Given the description of an element on the screen output the (x, y) to click on. 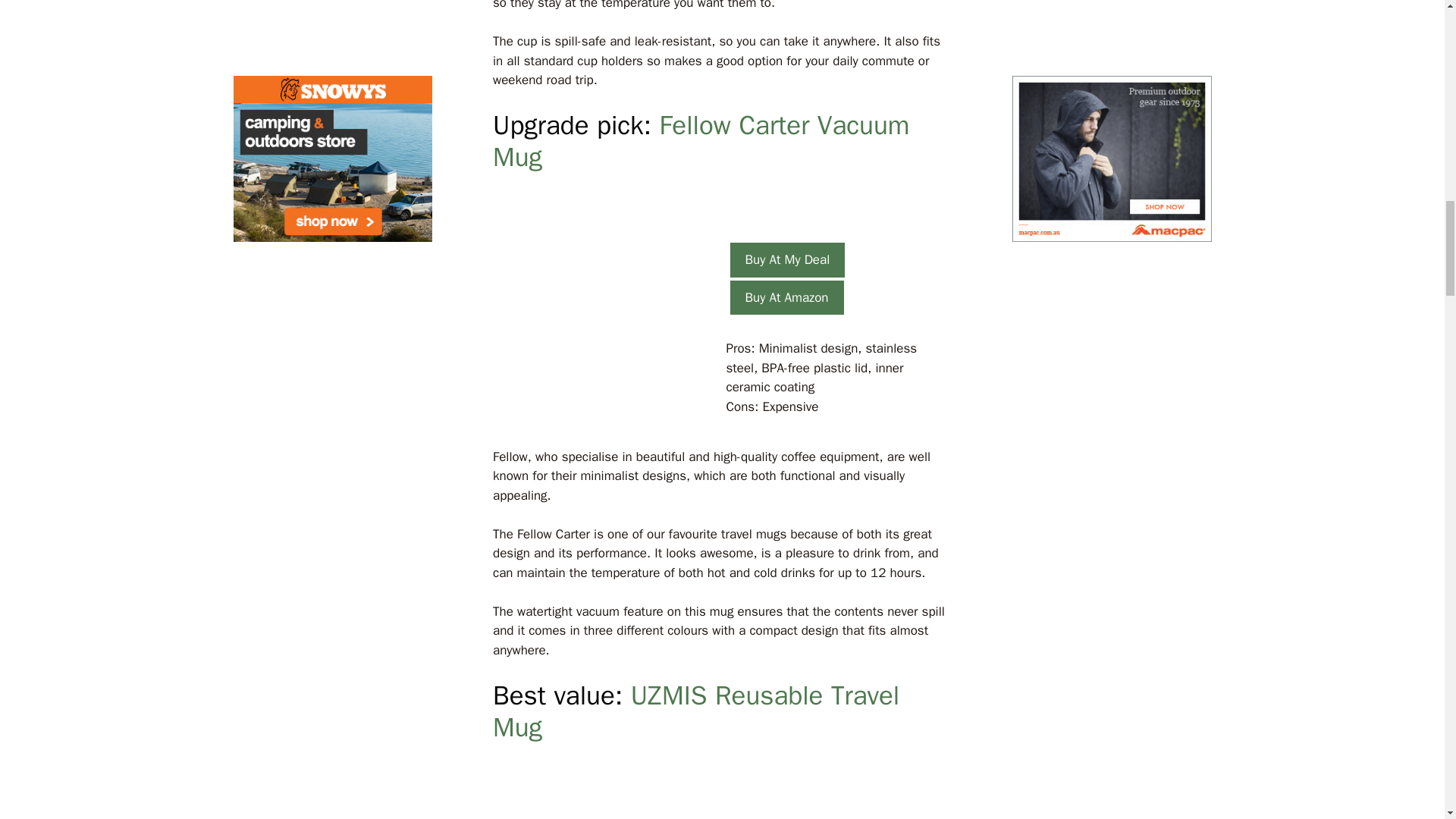
UZMIS Reusable Travel Mug (696, 710)
Buy At My Deal (786, 259)
Fellow Carter Vacuum Mug (700, 140)
Buy At Amazon (786, 297)
